Given the description of an element on the screen output the (x, y) to click on. 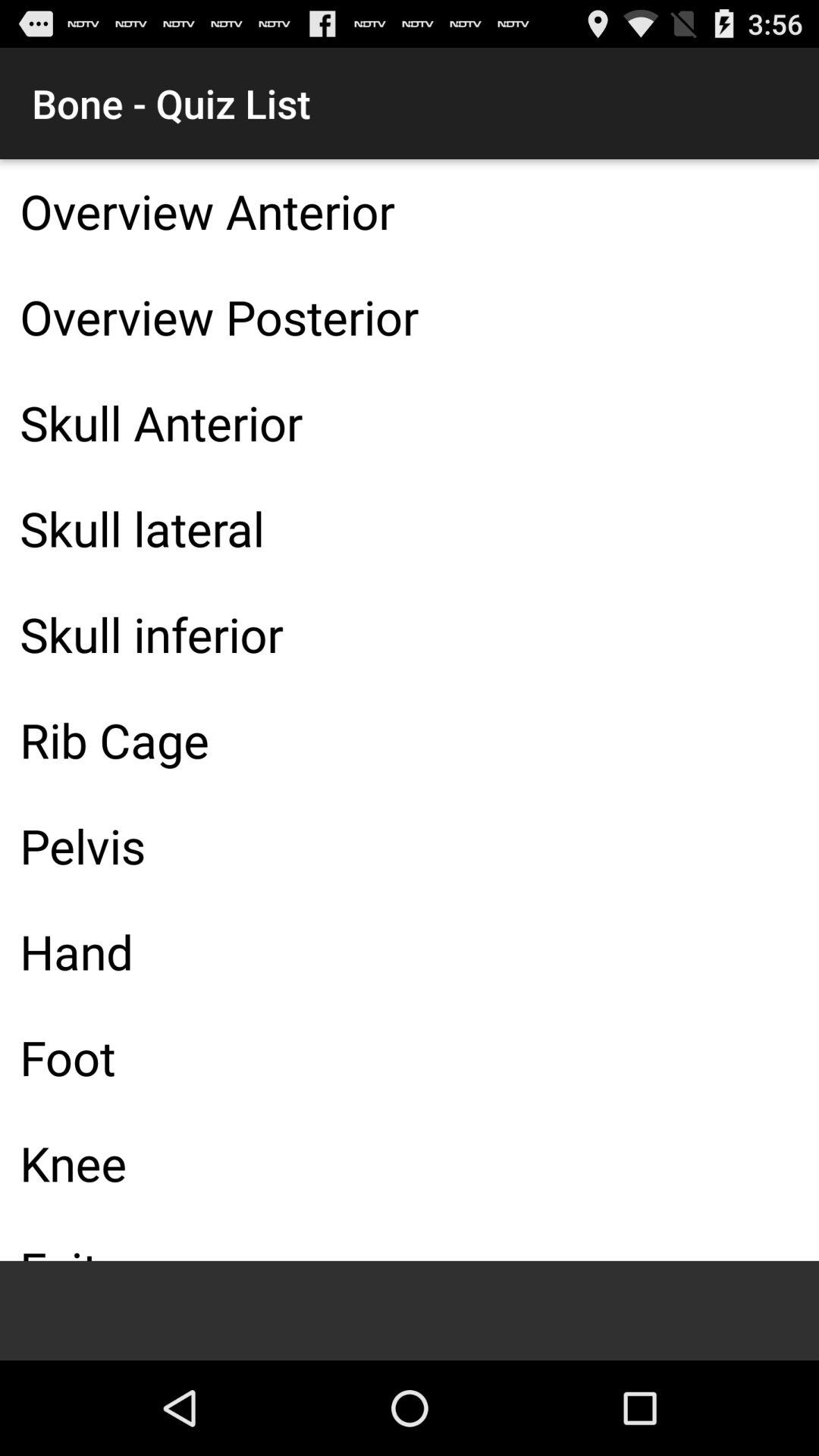
select the icon above exit (409, 1162)
